Given the description of an element on the screen output the (x, y) to click on. 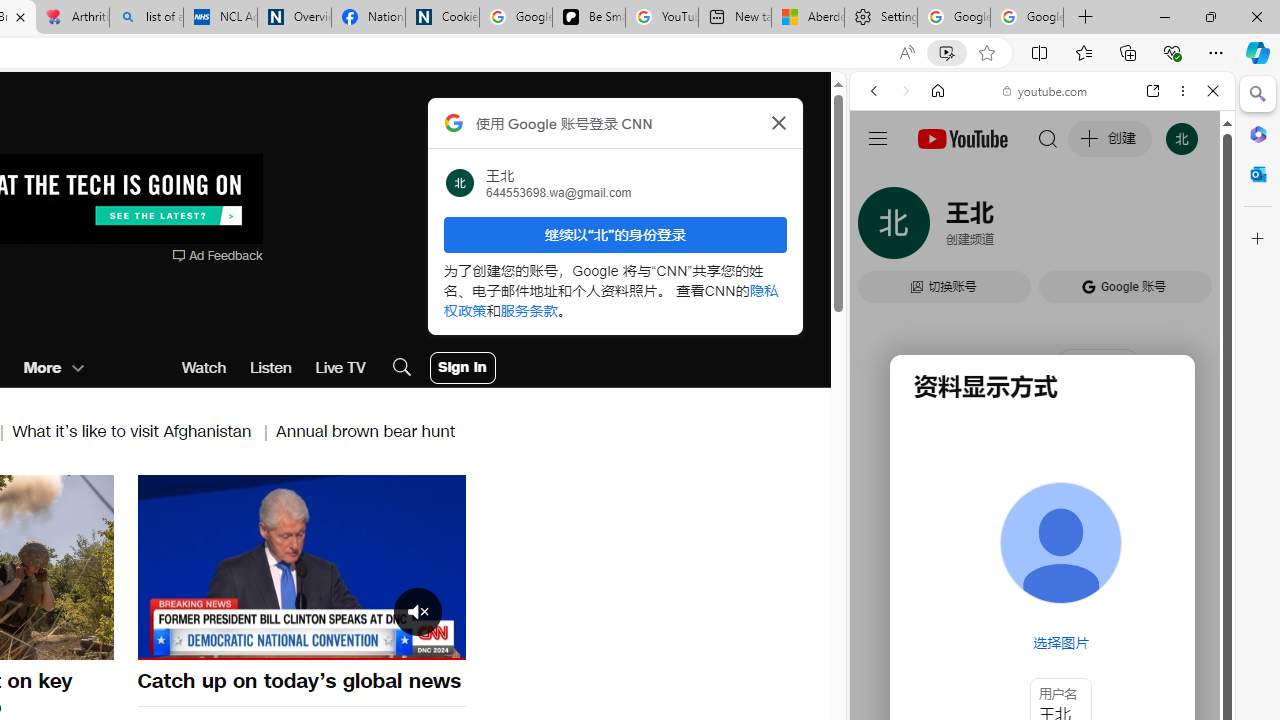
Fullscreen (438, 642)
Pause (301, 564)
